Given the description of an element on the screen output the (x, y) to click on. 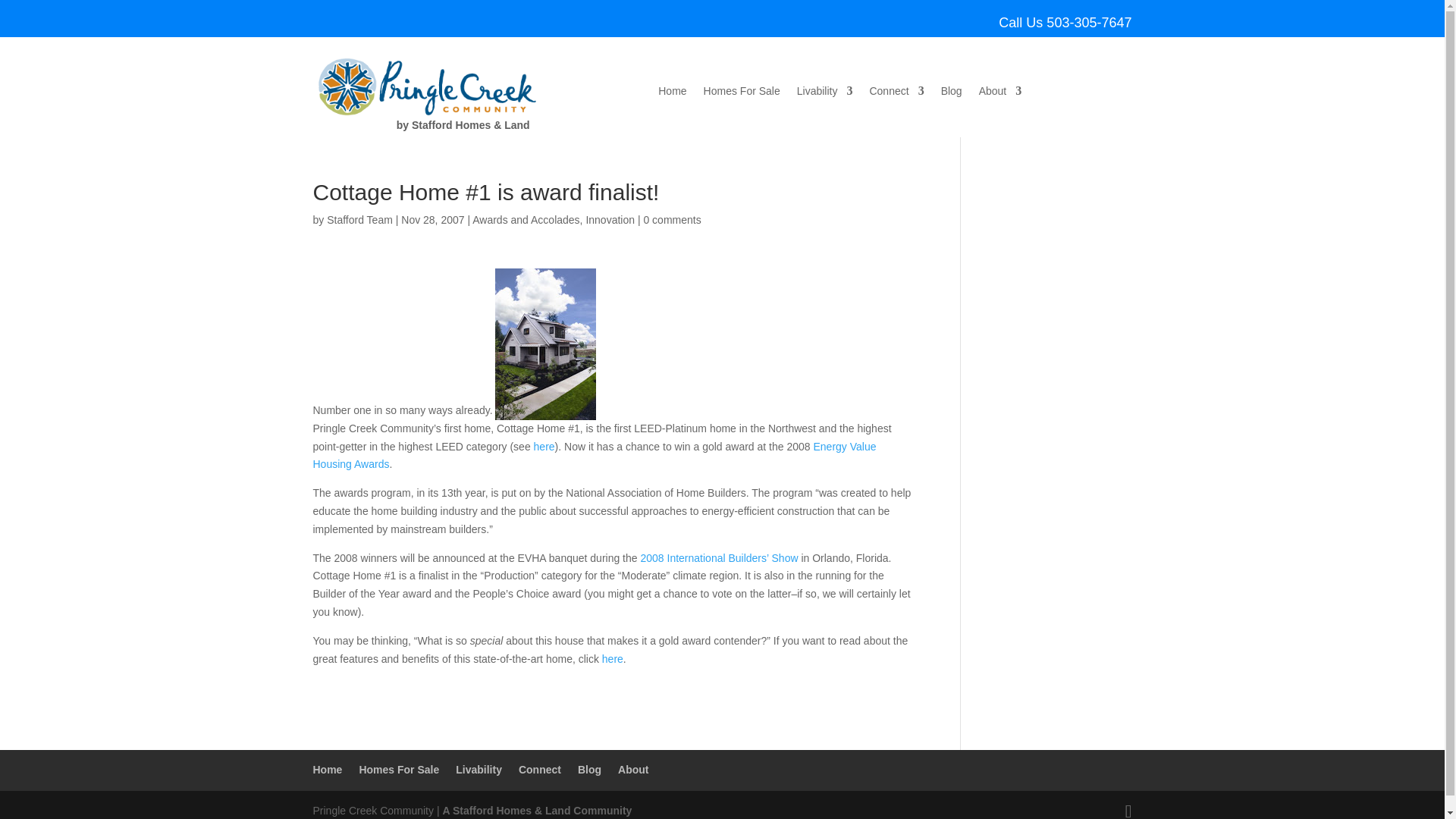
Stafford Team (359, 219)
Connect (896, 93)
Livability (824, 93)
Homes For Sale (741, 93)
Home (671, 93)
Blog (951, 93)
pringle creek community - logo (430, 86)
About (1000, 93)
Posts by Stafford Team (359, 219)
